Given the description of an element on the screen output the (x, y) to click on. 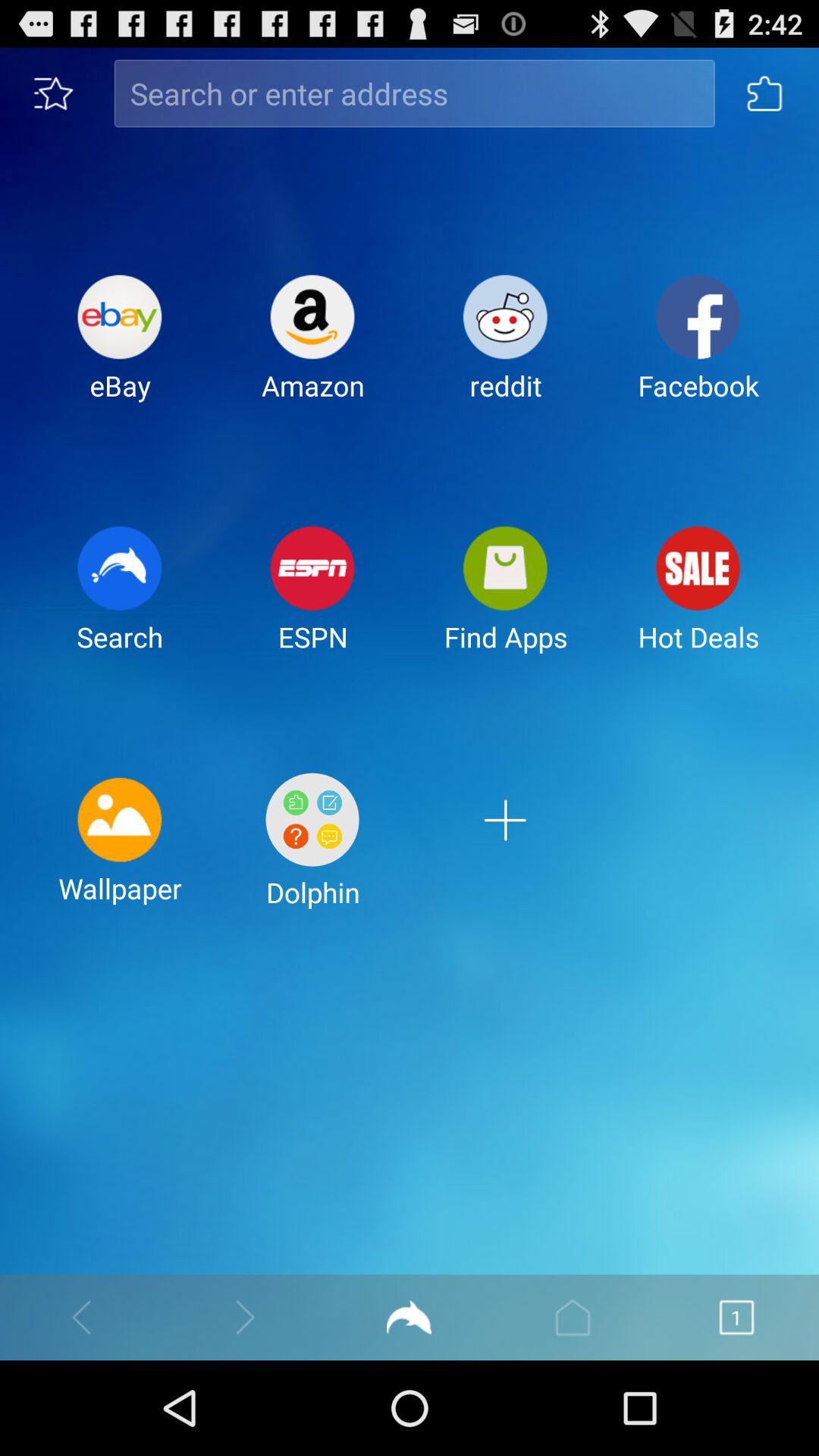
click the icon to the left of the reddit icon (312, 349)
